Given the description of an element on the screen output the (x, y) to click on. 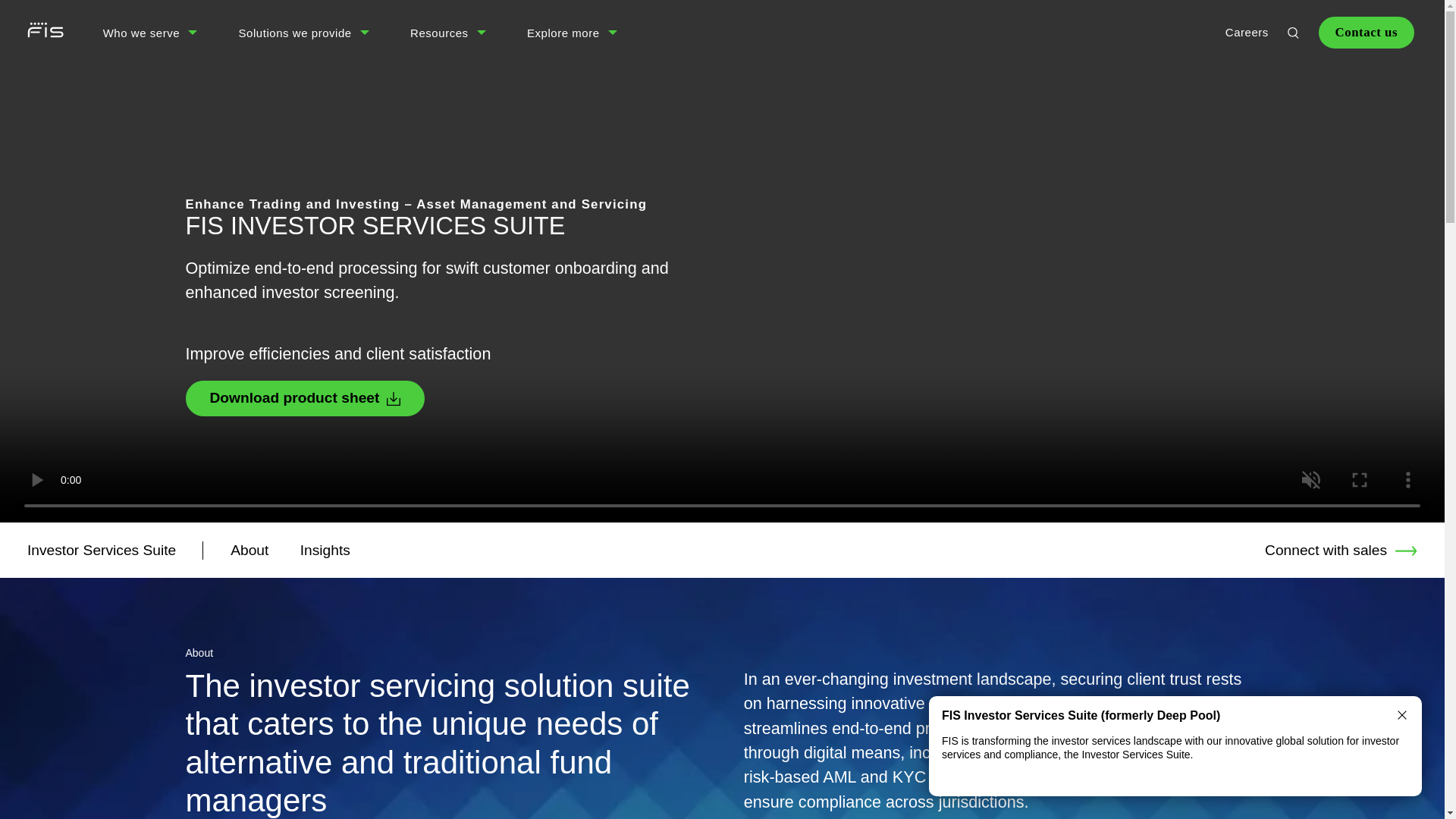
Global Search (1292, 32)
Who we serve (141, 32)
